Given the description of an element on the screen output the (x, y) to click on. 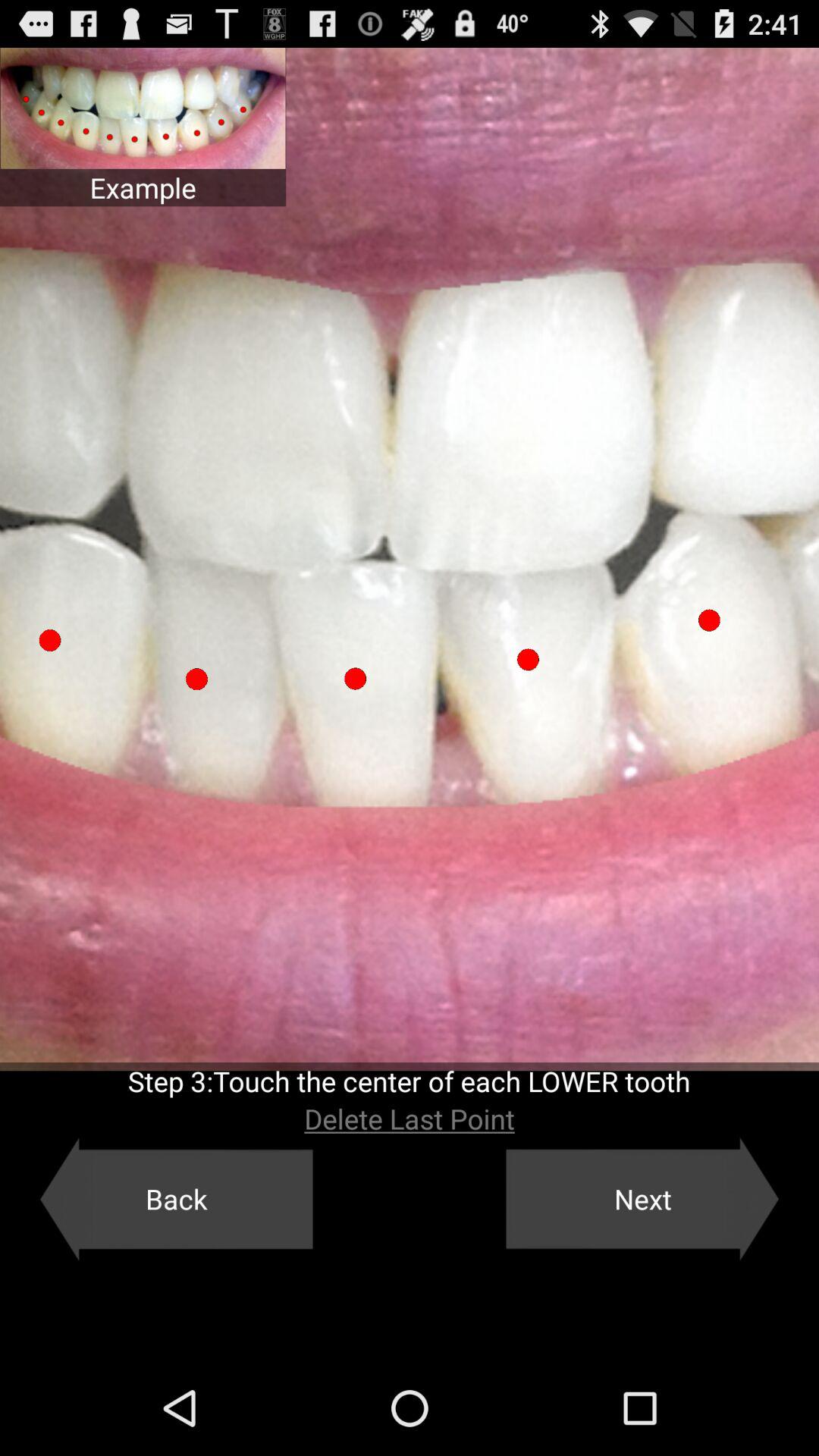
select item below the delete last point app (175, 1198)
